Given the description of an element on the screen output the (x, y) to click on. 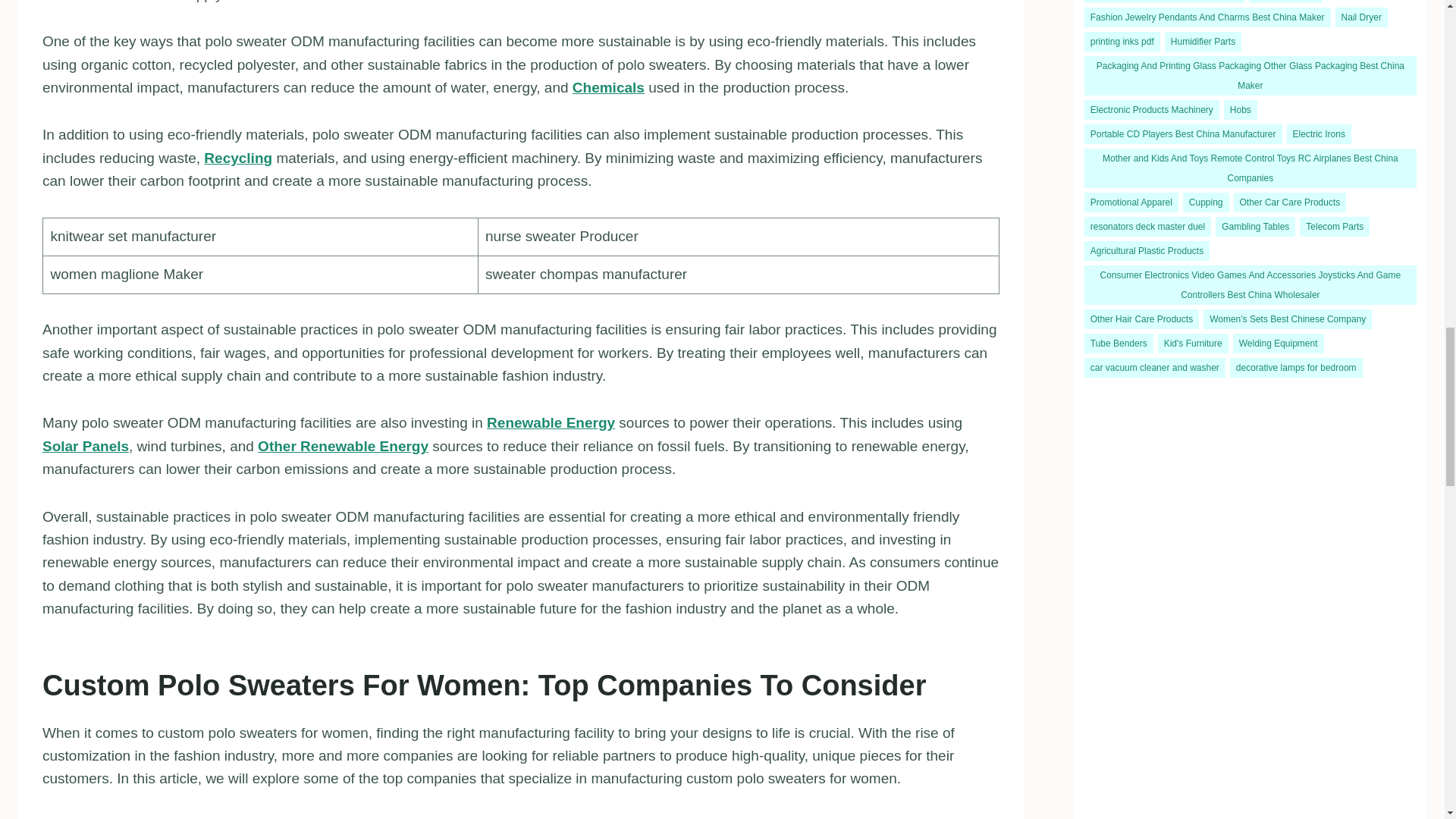
Renewable Energy (550, 422)
Recycling (237, 157)
Chemicals (608, 87)
Solar Panels (85, 446)
